Given the description of an element on the screen output the (x, y) to click on. 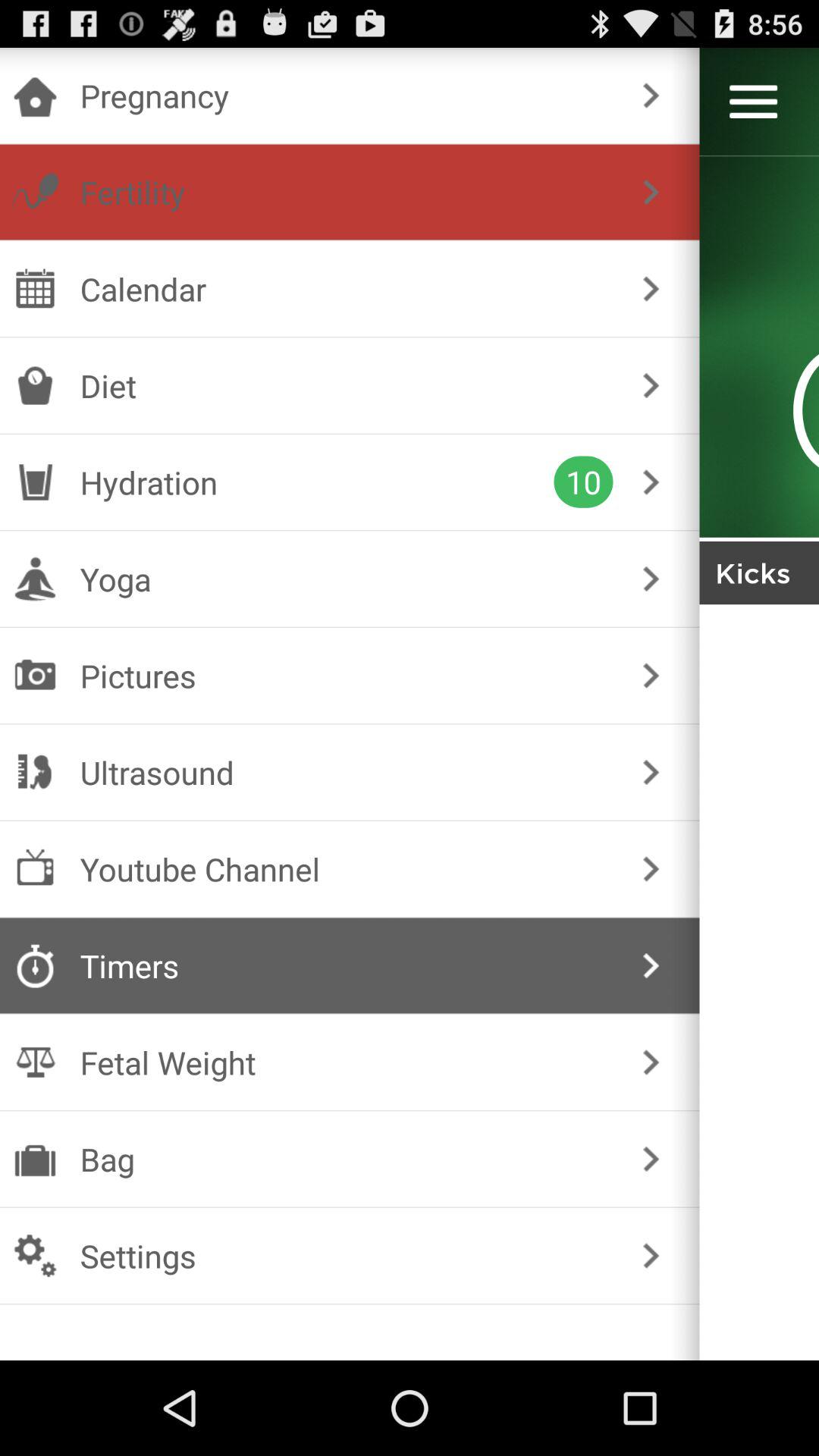
choose the icon below the ultrasound icon (346, 868)
